Given the description of an element on the screen output the (x, y) to click on. 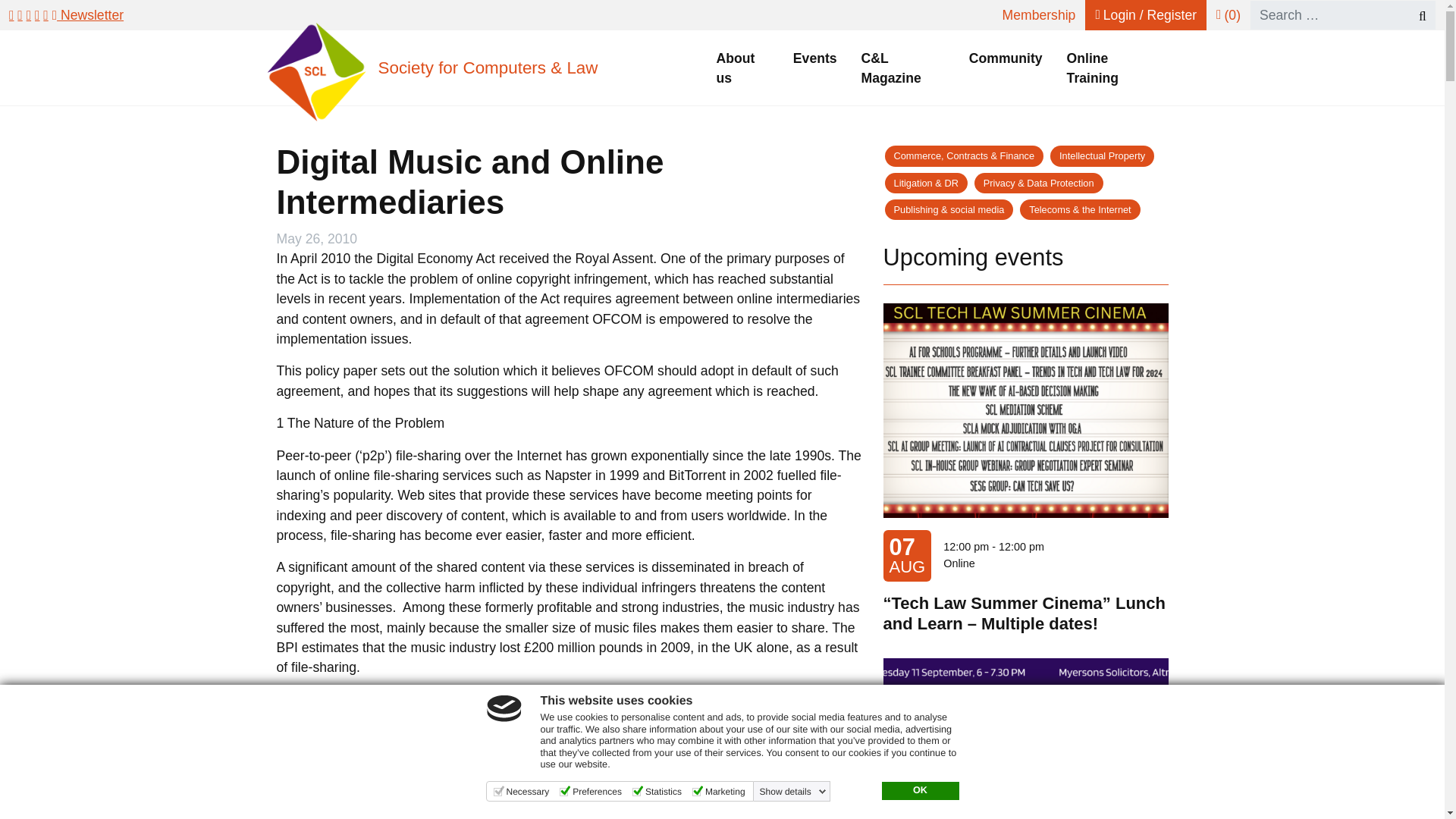
Search (1415, 14)
Search (1415, 14)
OK (919, 791)
Show details (793, 791)
